Given the description of an element on the screen output the (x, y) to click on. 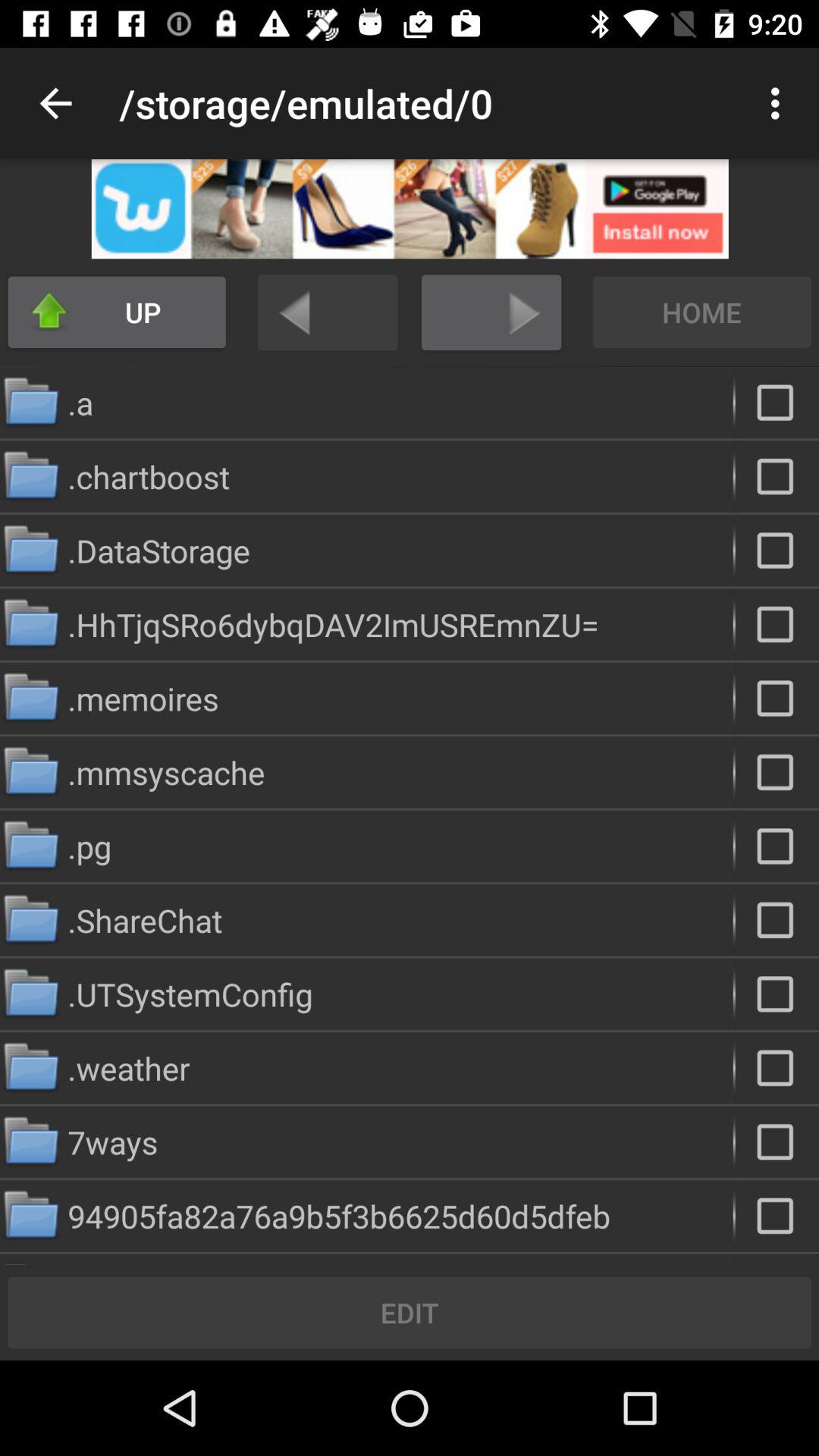
select option (777, 772)
